Given the description of an element on the screen output the (x, y) to click on. 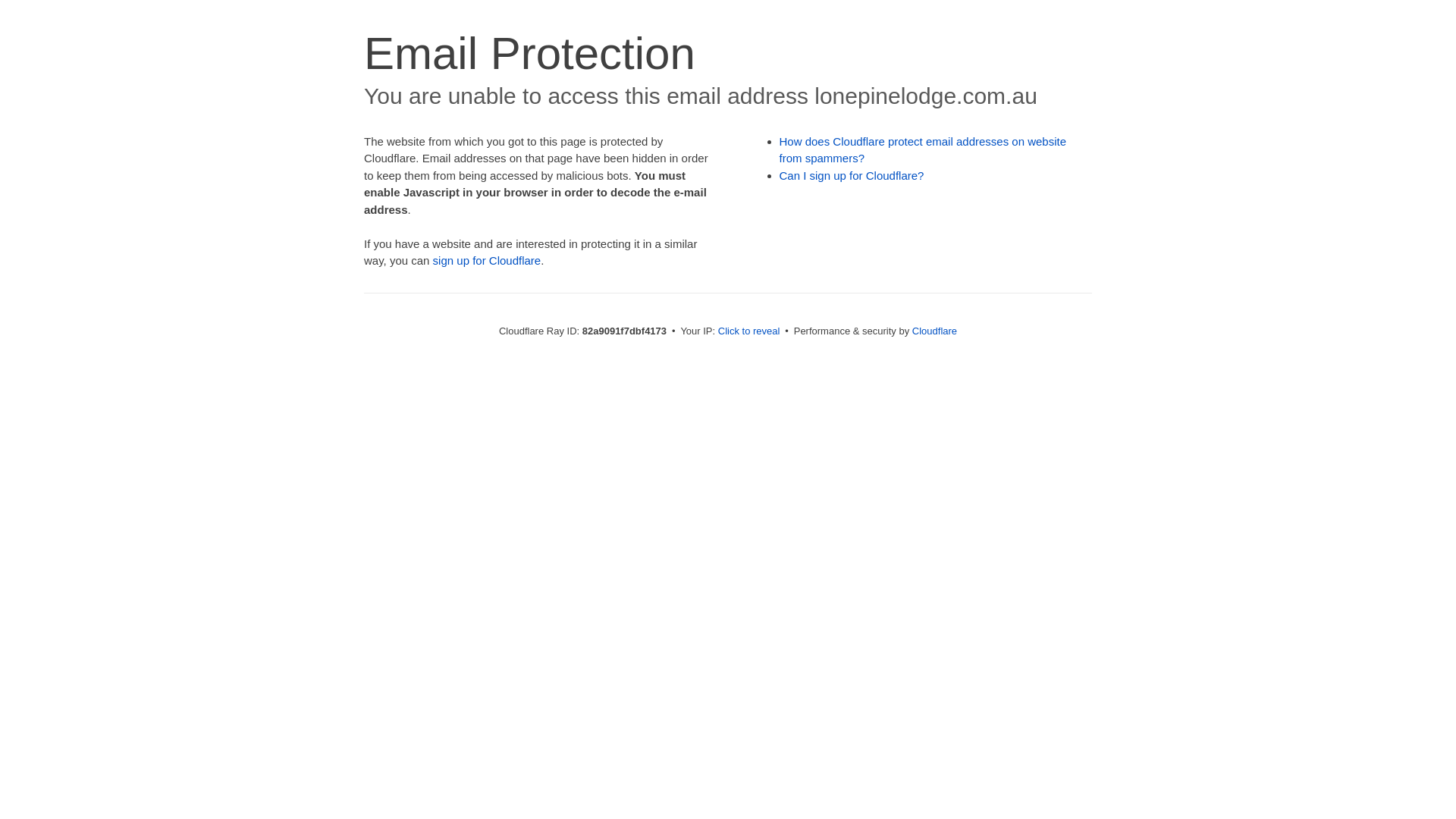
Can I sign up for Cloudflare? Element type: text (851, 175)
Cloudflare Element type: text (934, 330)
Click to reveal Element type: text (749, 330)
sign up for Cloudflare Element type: text (487, 260)
